Given the description of an element on the screen output the (x, y) to click on. 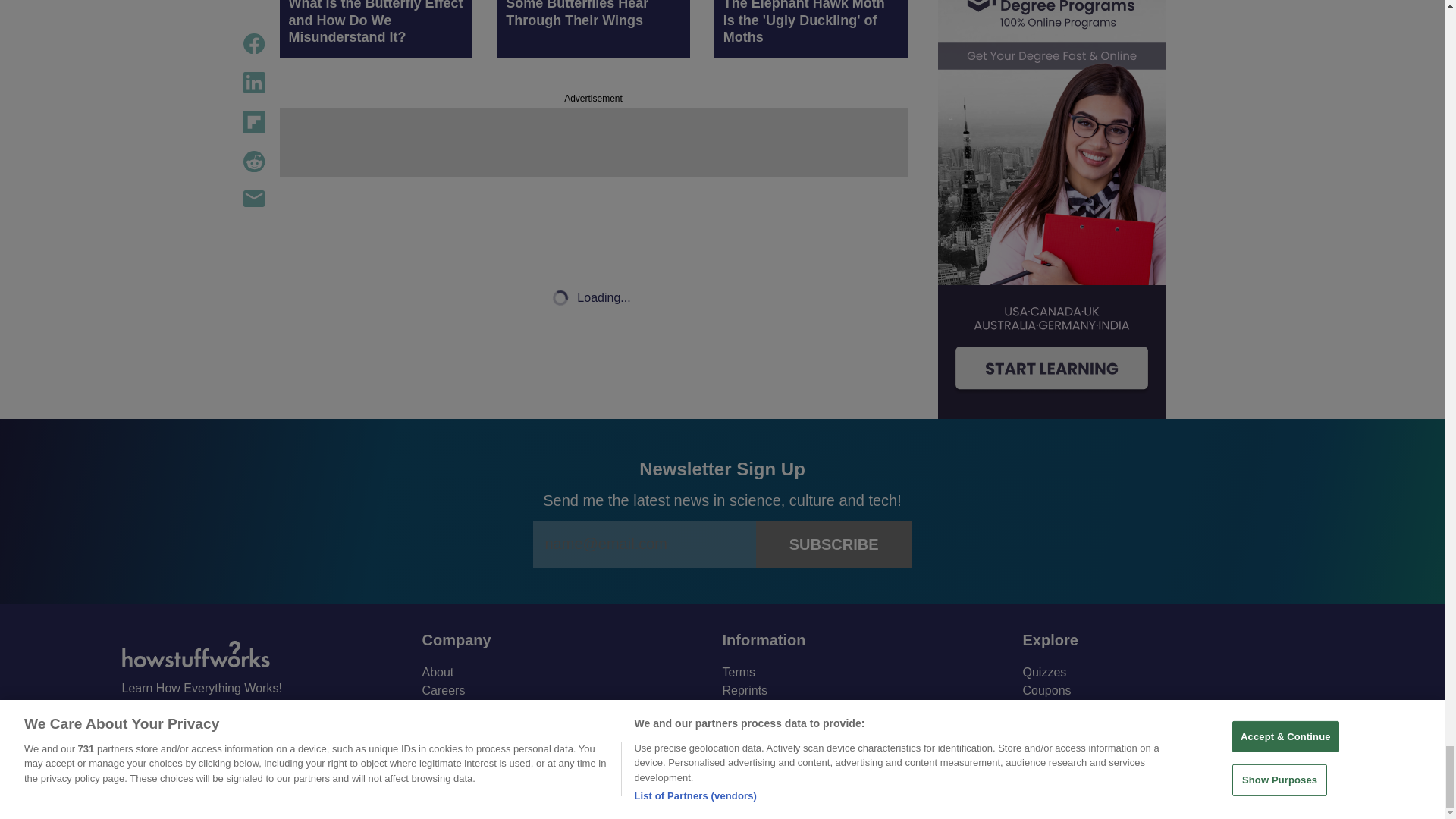
Subscribe (833, 544)
Visit HowStuffWorks on Facebook (134, 723)
Visit HowStuffWorks on Instagram (213, 723)
Visit HowStuffWorks on YouTube (173, 722)
